Given the description of an element on the screen output the (x, y) to click on. 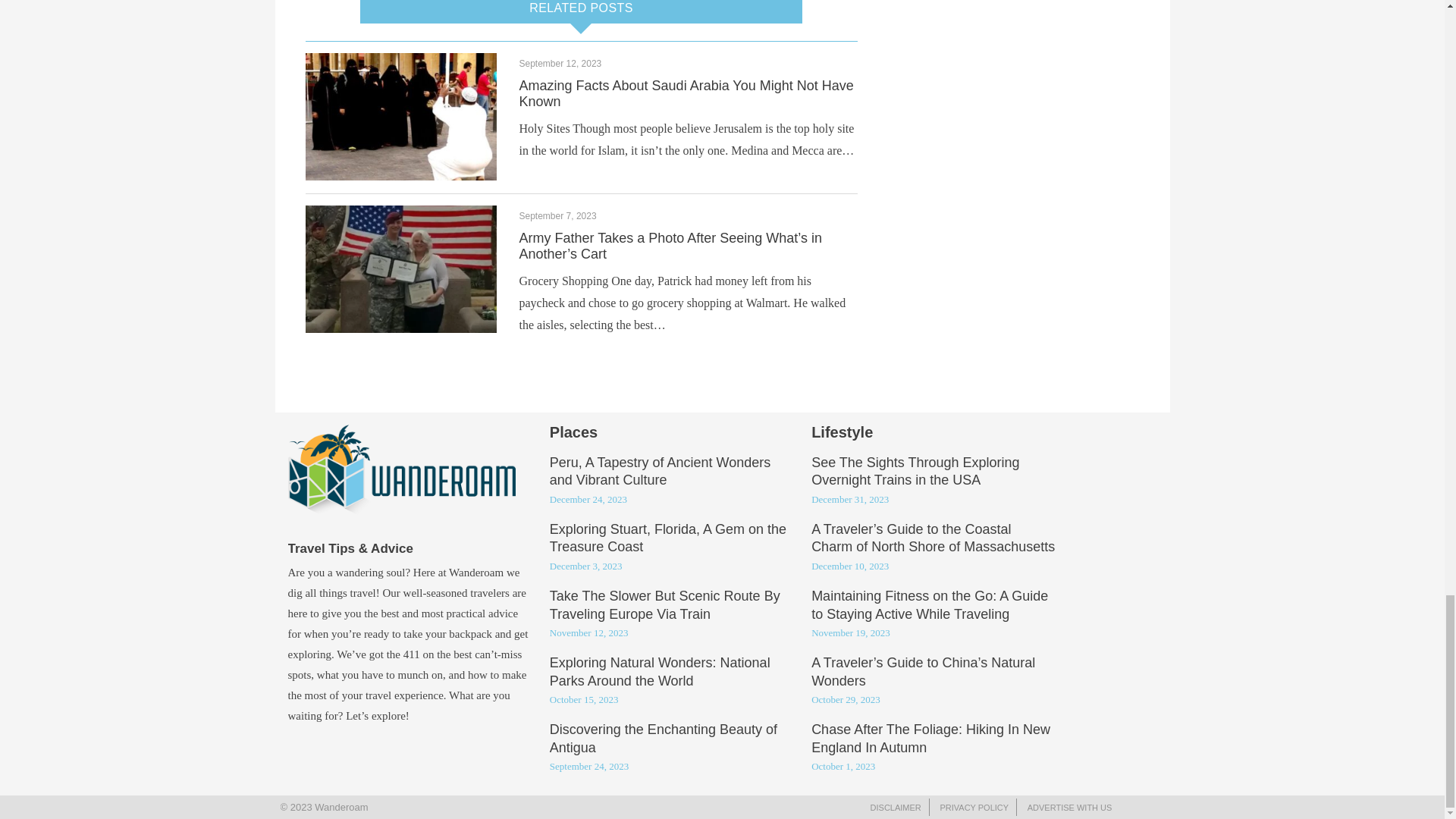
Amazing Facts About Saudi Arabia You Might Not Have Known (685, 93)
Peru, A Tapestry of Ancient Wonders and Vibrant Culture (660, 471)
Exploring Stuart, Florida, A Gem on the Treasure Coast (668, 538)
